Given the description of an element on the screen output the (x, y) to click on. 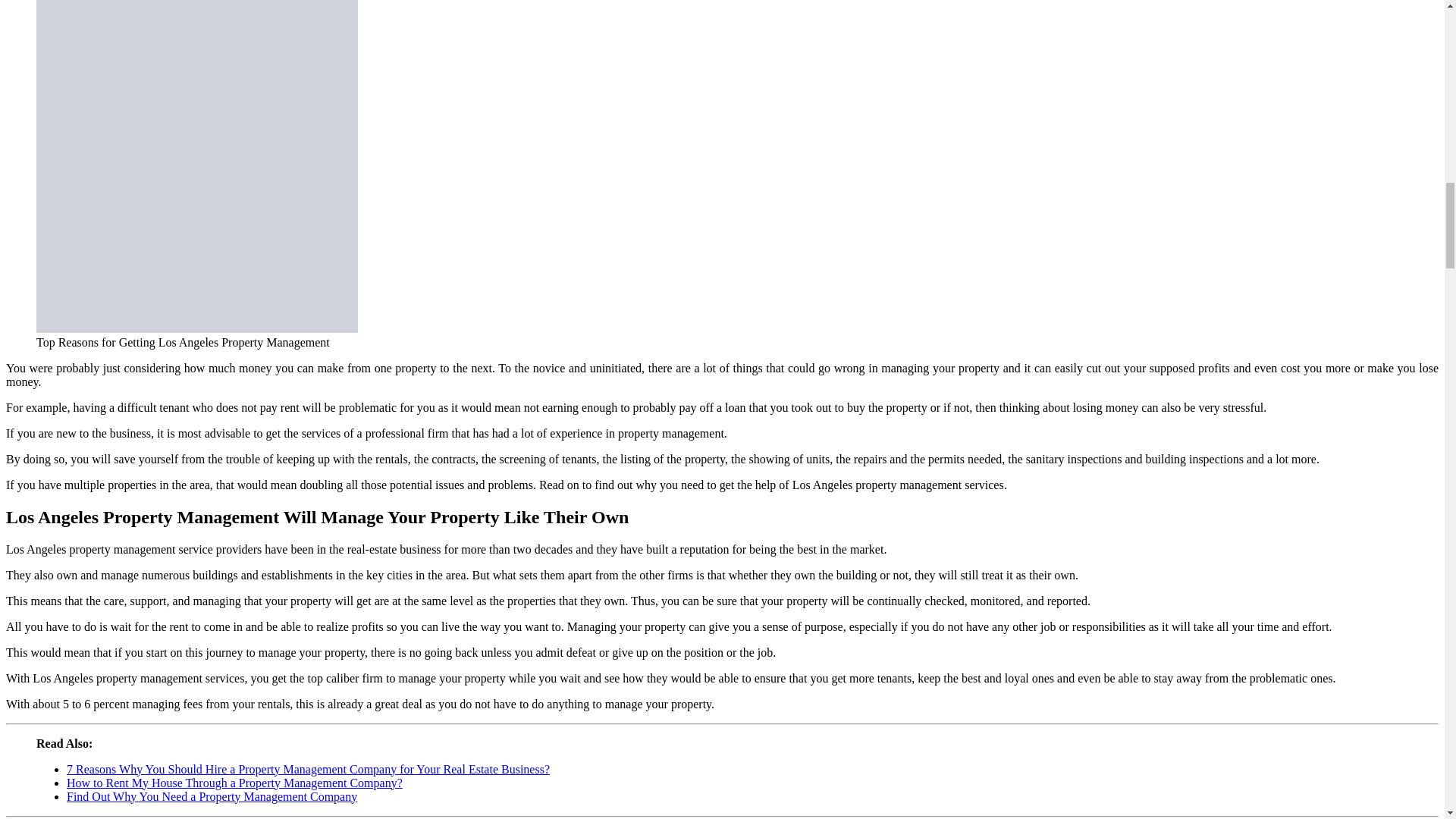
Top Reasons for Getting Los Angeles Property Management  (197, 166)
